Given the description of an element on the screen output the (x, y) to click on. 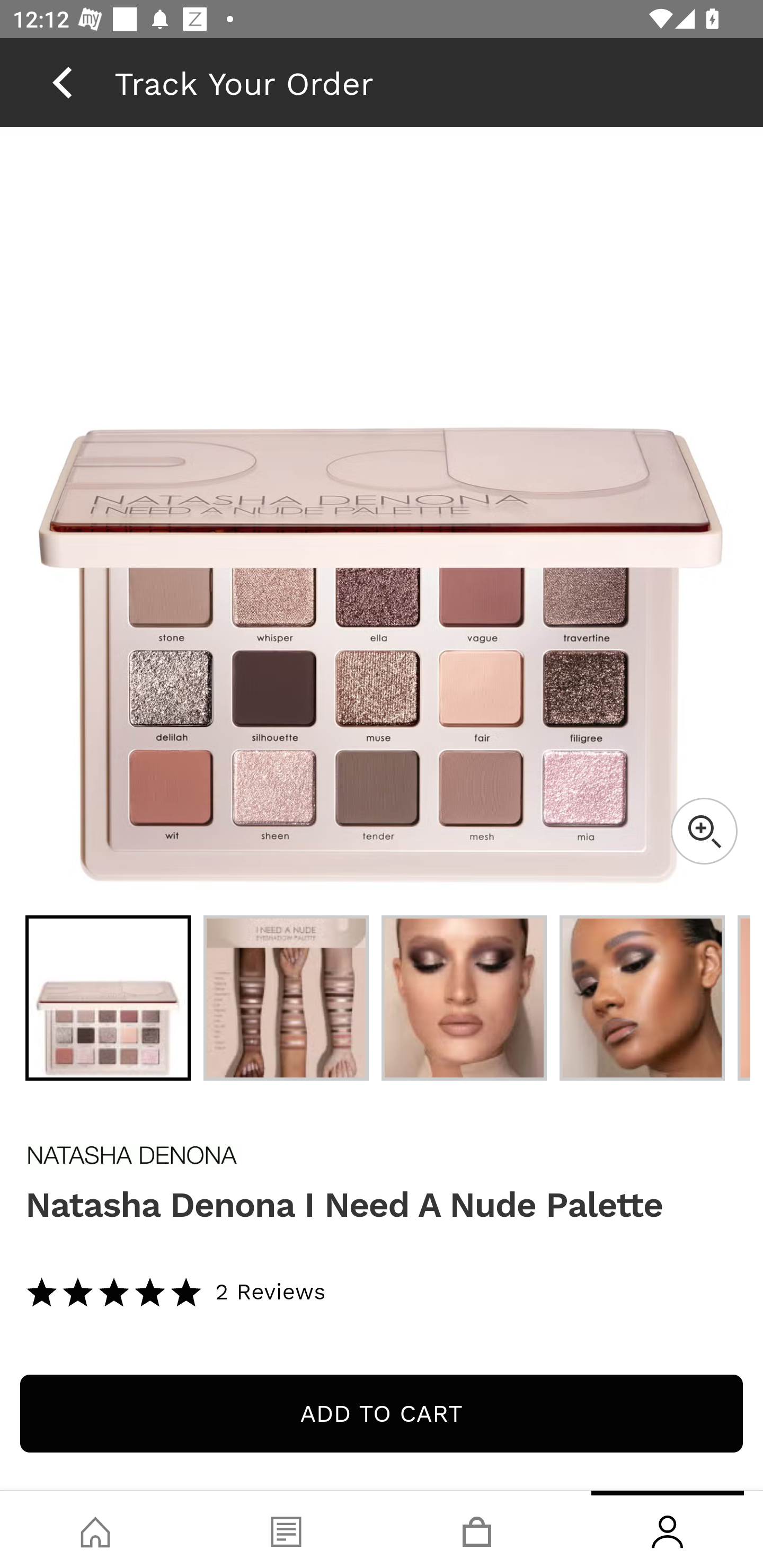
back (61, 82)
Zoom (703, 830)
Natasha Denona (381, 1156)
Add to cart (381, 1413)
Shop, tab, 1 of 4 (95, 1529)
Blog, tab, 2 of 4 (285, 1529)
Basket, tab, 3 of 4 (476, 1529)
Account, tab, 4 of 4 (667, 1529)
